Given the description of an element on the screen output the (x, y) to click on. 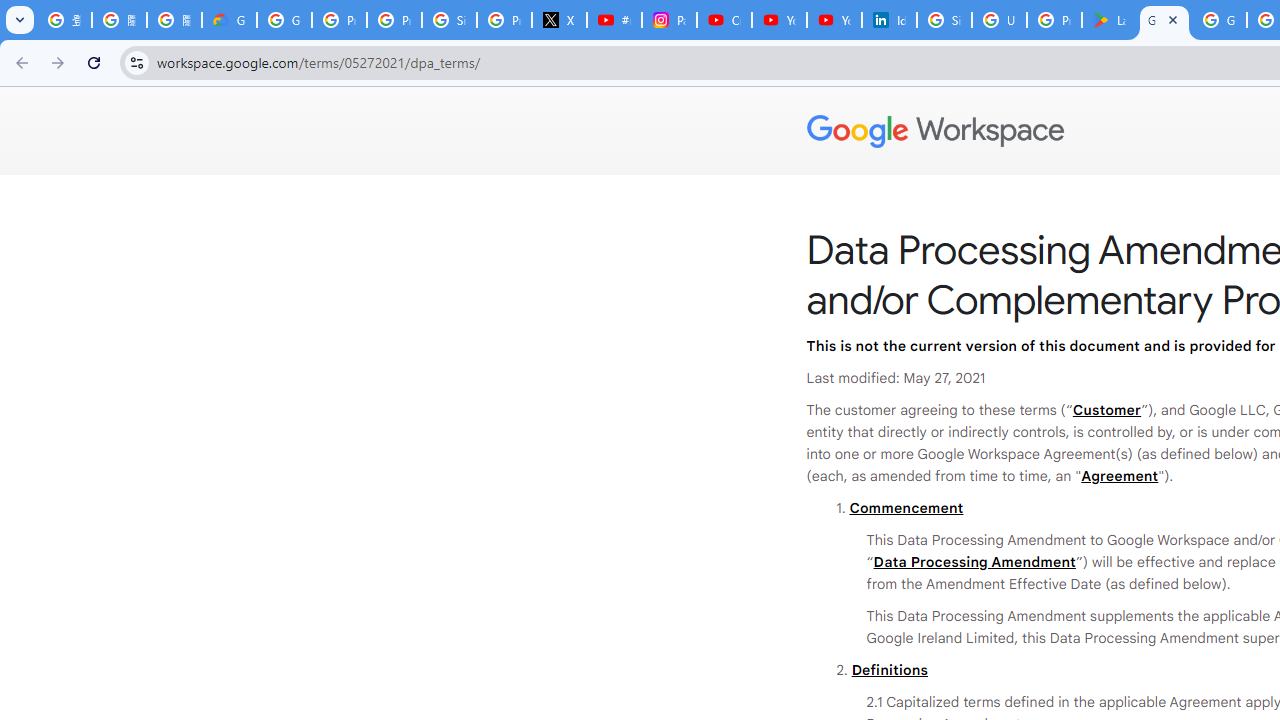
X (559, 20)
Privacy Help Center - Policies Help (394, 20)
Google Workspace - Specific Terms (1218, 20)
Sign in - Google Accounts (449, 20)
